Given the description of an element on the screen output the (x, y) to click on. 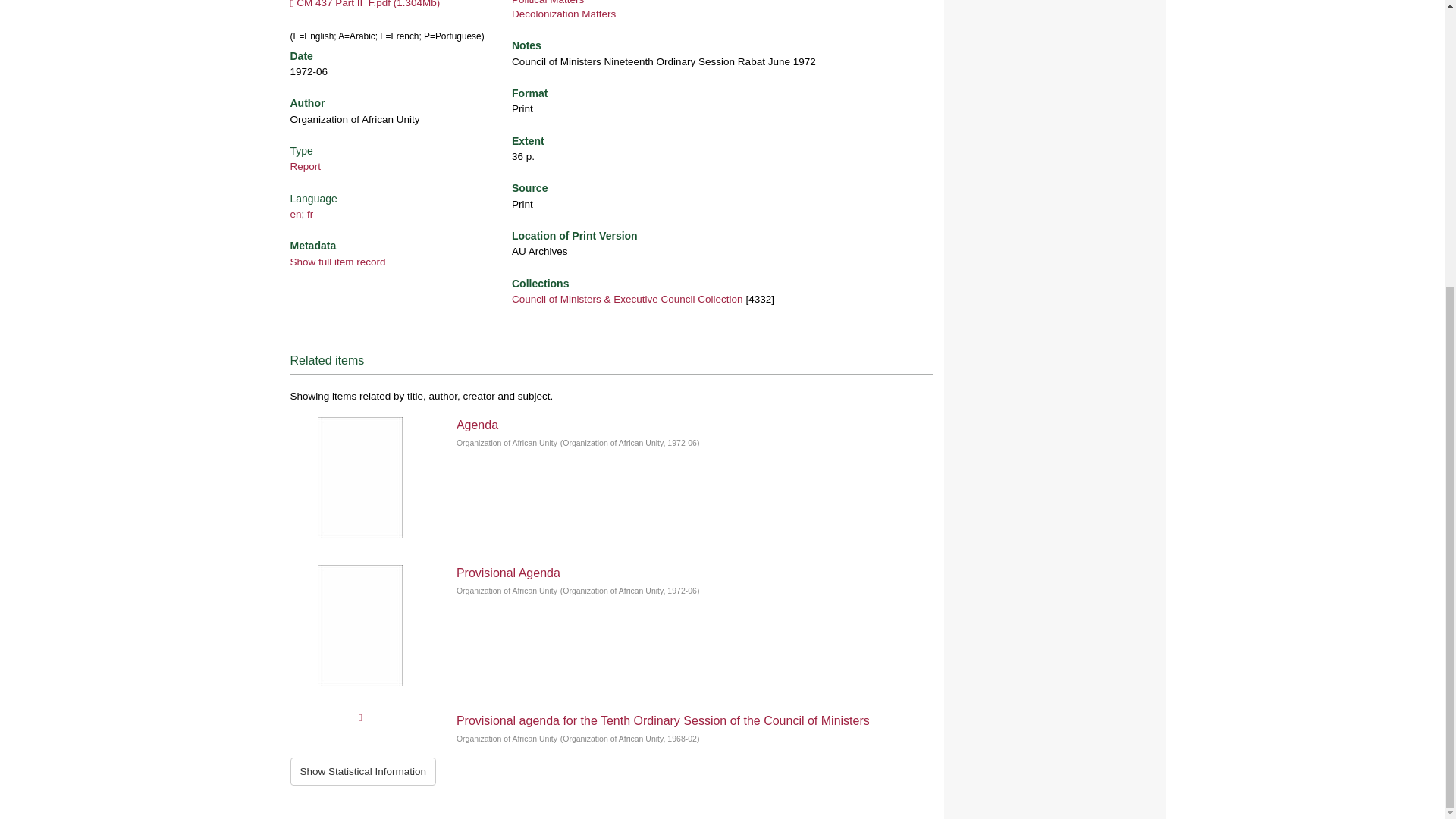
Decolonization Matters (563, 13)
en (295, 214)
Report (304, 165)
Show full item record (337, 261)
Provisional Agenda (508, 572)
Agenda (477, 424)
Political Matters (547, 2)
